Given the description of an element on the screen output the (x, y) to click on. 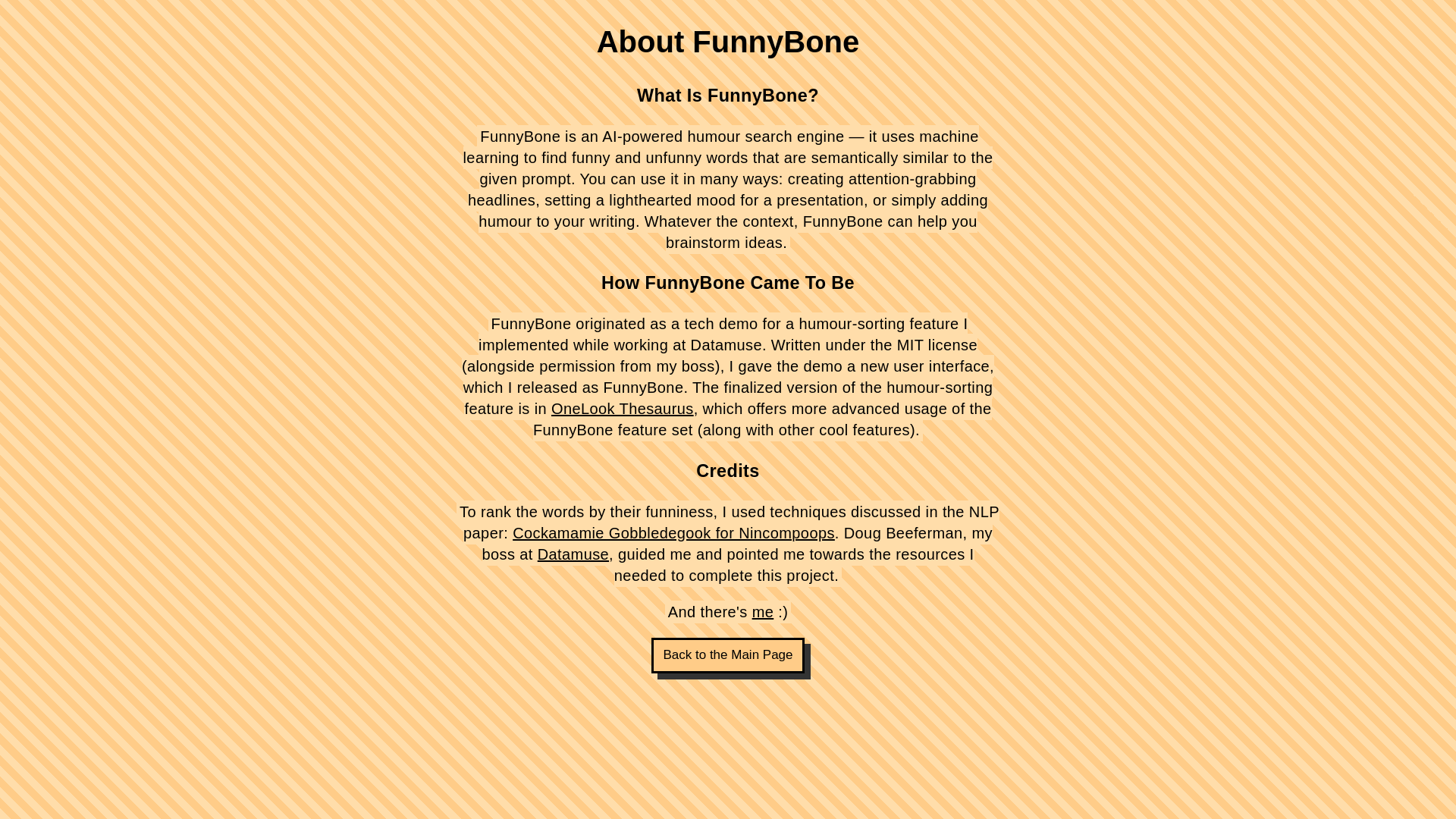
Datamuse (572, 554)
Back to the Main Page (727, 655)
Cockamamie Gobbledegook for Nincompoops (673, 532)
OneLook Thesaurus (622, 408)
me (763, 611)
